Given the description of an element on the screen output the (x, y) to click on. 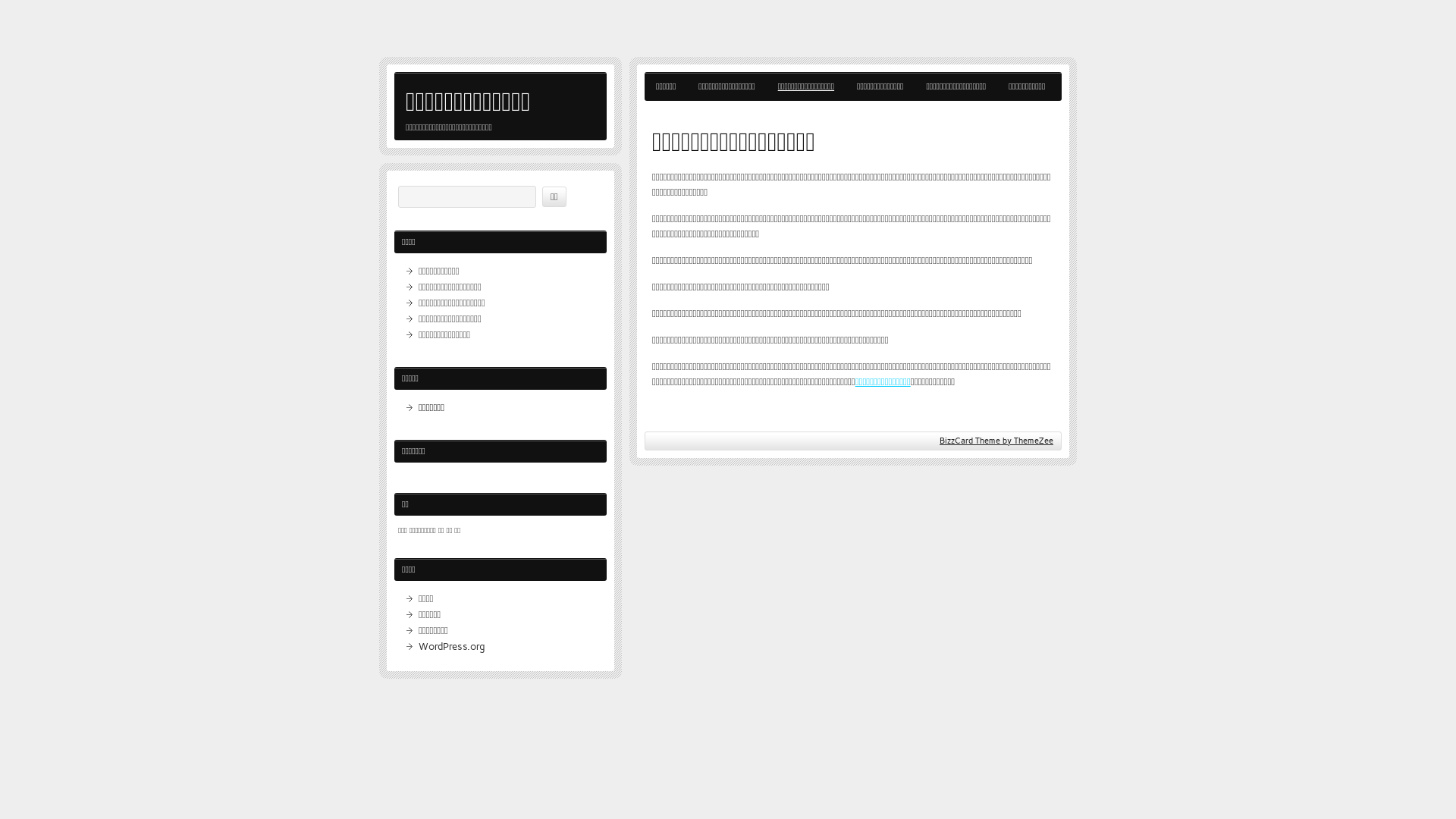
WordPress.org Element type: text (451, 646)
BizzCard Theme by ThemeZee Element type: text (996, 440)
